Given the description of an element on the screen output the (x, y) to click on. 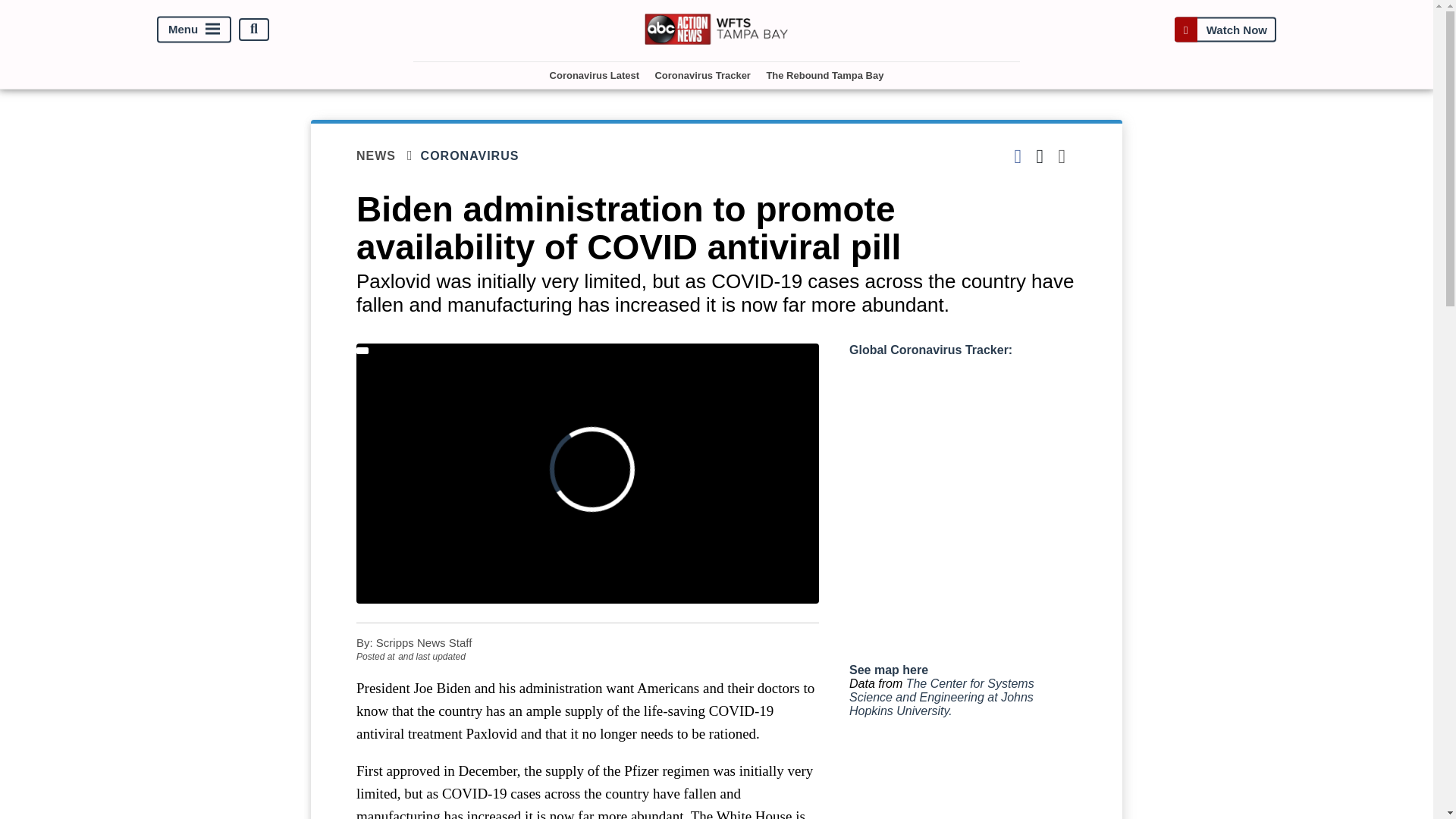
Menu (194, 28)
Watch Now (1224, 29)
